Given the description of an element on the screen output the (x, y) to click on. 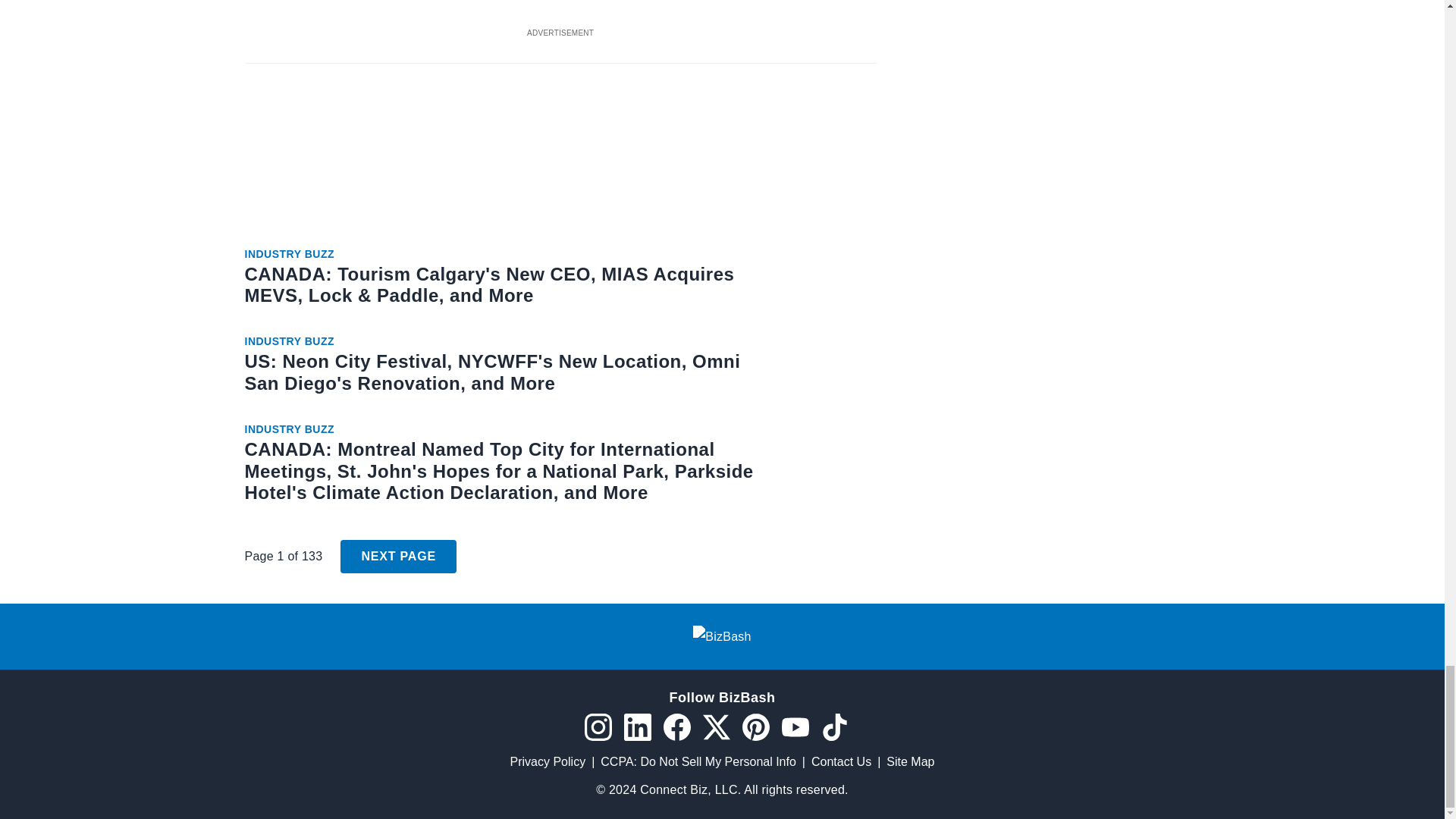
Facebook icon (676, 727)
YouTube icon (794, 727)
Pinterest icon (754, 727)
Instagram icon (597, 727)
LinkedIn icon (636, 727)
TikTok (834, 727)
Twitter X icon (715, 727)
